Given the description of an element on the screen output the (x, y) to click on. 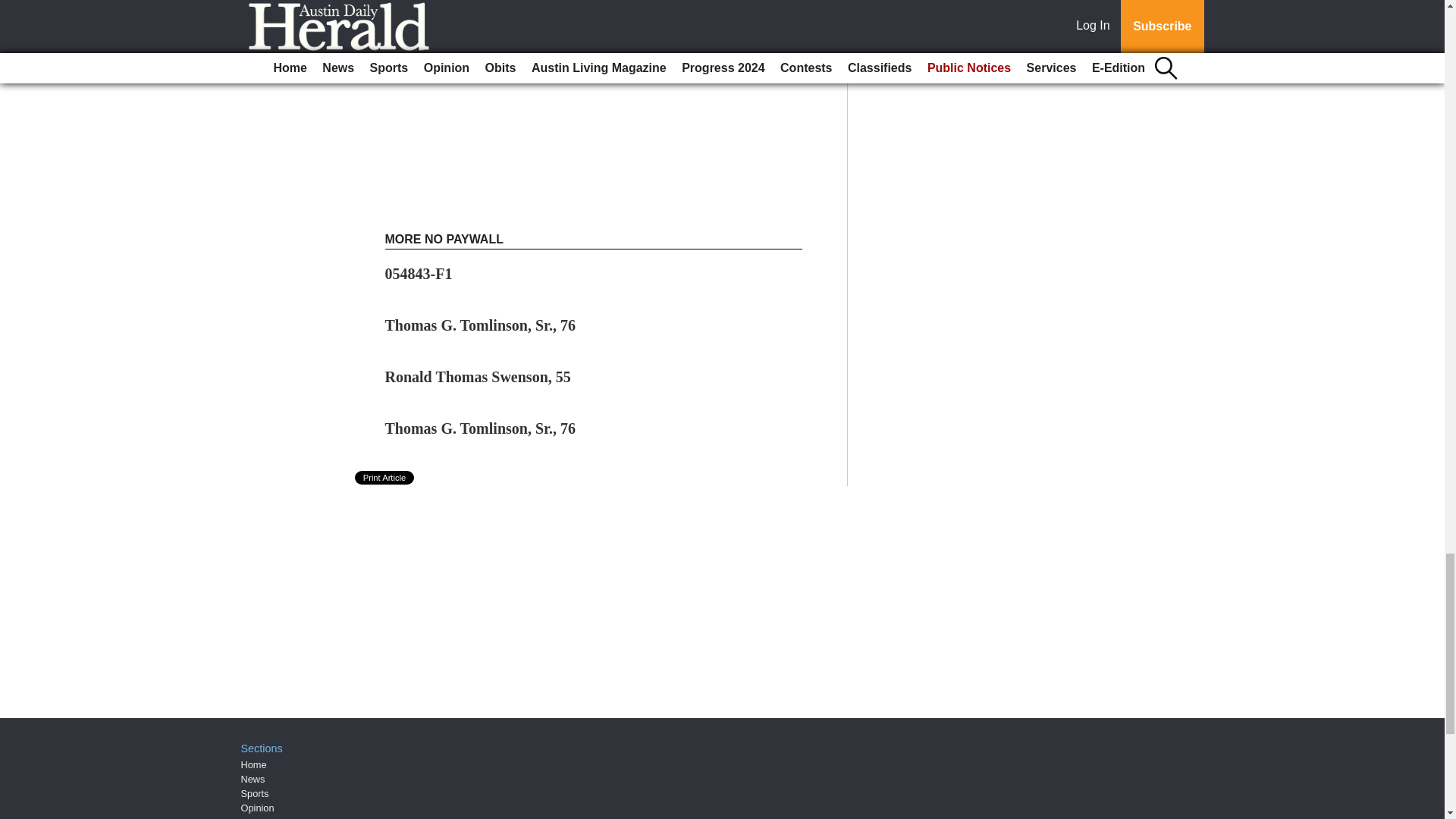
Ronald Thomas Swenson, 55 (477, 376)
Thomas G. Tomlinson, Sr., 76 (480, 428)
054843-F1 (418, 273)
Thomas G. Tomlinson, Sr., 76 (480, 324)
